Given the description of an element on the screen output the (x, y) to click on. 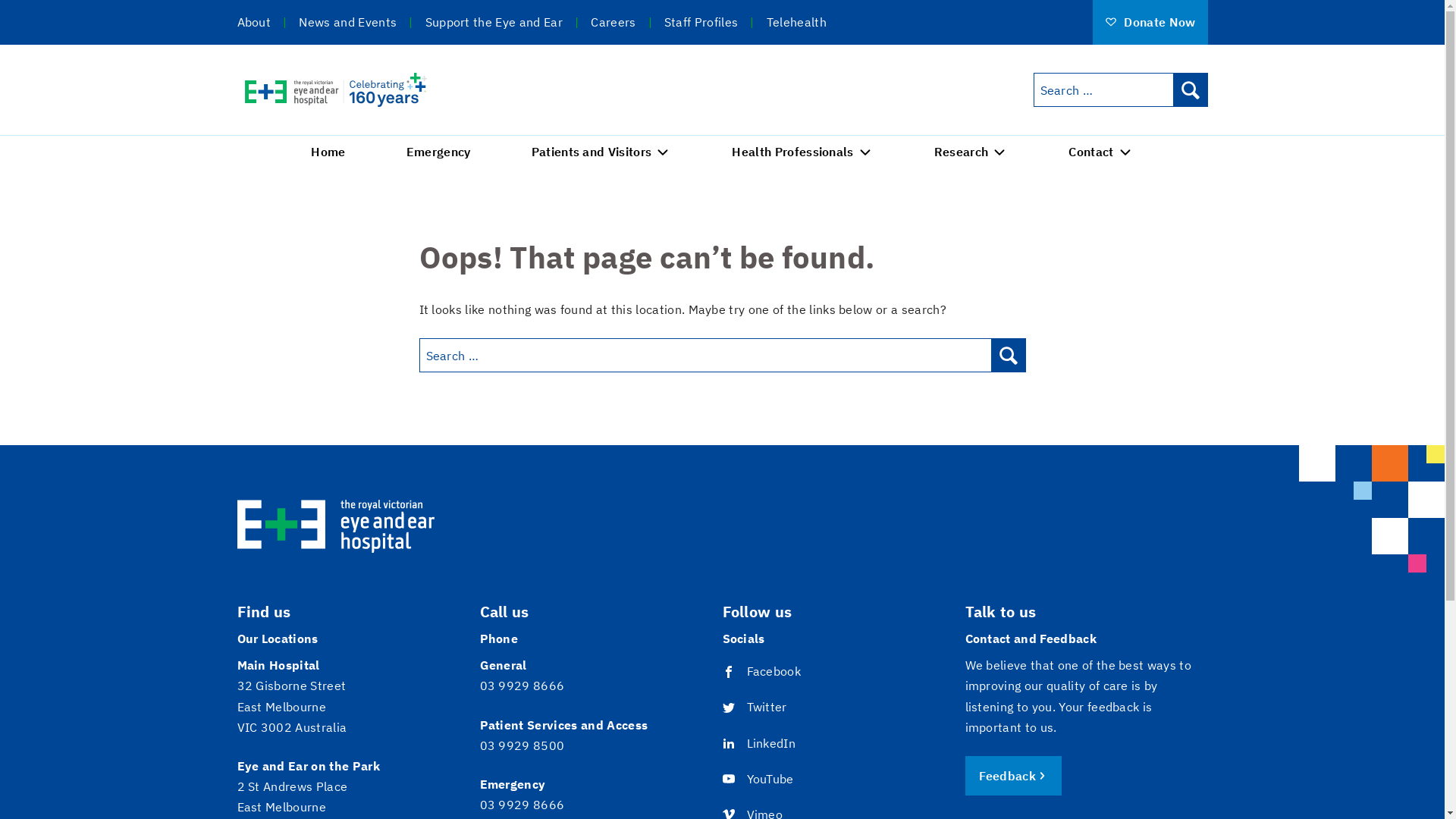
Search Element type: text (1190, 89)
Telehealth Element type: text (796, 21)
Facebook Element type: text (782, 671)
Careers Element type: text (612, 21)
Health Professionals Element type: text (801, 152)
Feedback Element type: text (1012, 775)
Contact Element type: text (1100, 152)
Twitter Element type: text (782, 706)
LinkedIn Element type: text (782, 743)
Patients and Visitors Element type: text (601, 152)
03 9929 8666 Element type: text (521, 685)
Search Element type: text (1008, 355)
Home Element type: text (327, 152)
Emergency Element type: text (438, 152)
Support the Eye and Ear Element type: text (493, 21)
Search for: Element type: hover (1102, 89)
03 9929 8500 Element type: text (521, 745)
Staff Profiles Element type: text (700, 21)
About Element type: text (253, 21)
Research Element type: text (971, 152)
Donate Now Element type: text (1149, 22)
03 9929 8666 Element type: text (521, 804)
Search for: Element type: hover (704, 355)
YouTube Element type: text (782, 778)
News and Events Element type: text (347, 21)
